Given the description of an element on the screen output the (x, y) to click on. 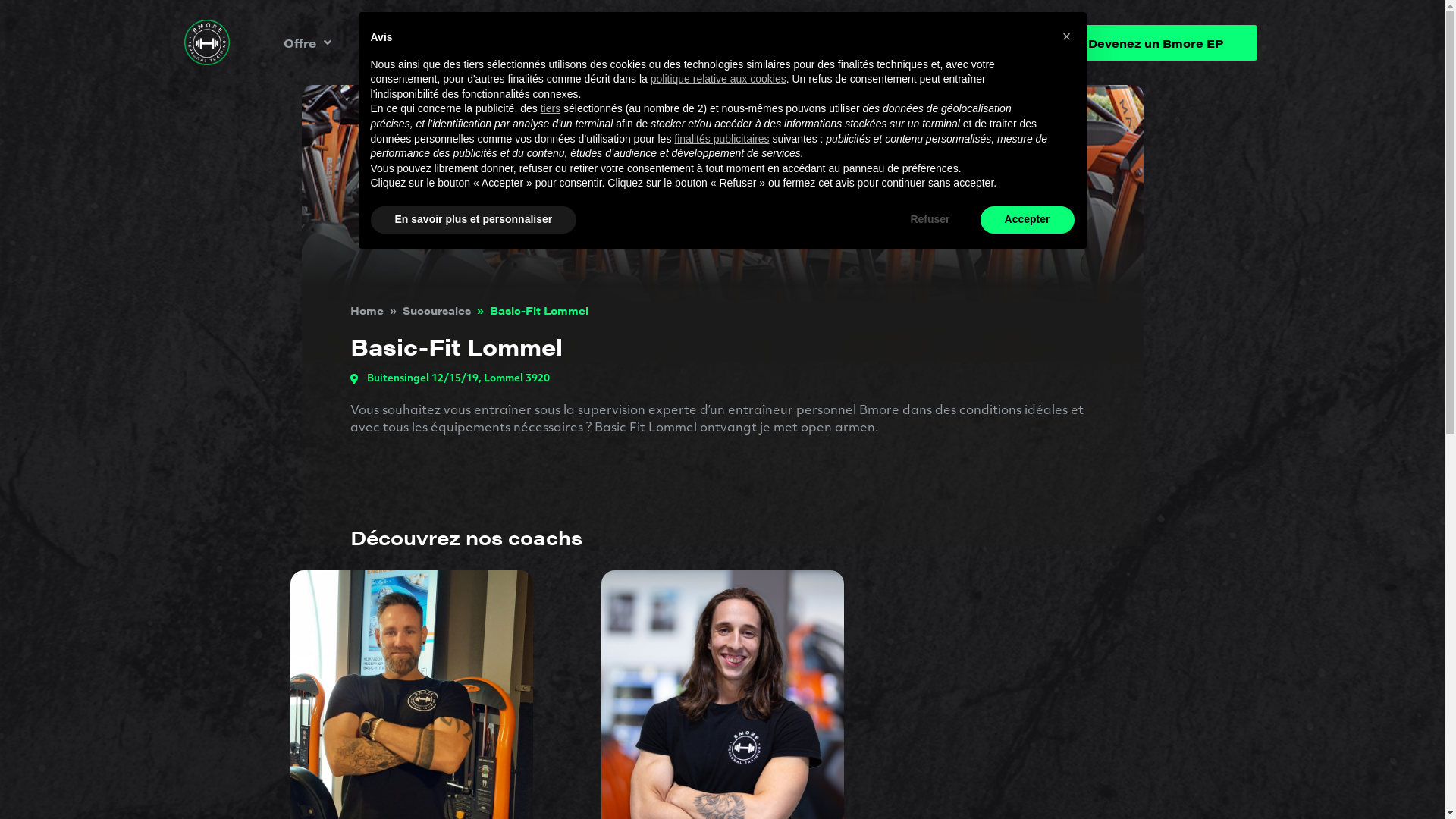
Succursales Element type: text (435, 309)
Refuser Element type: text (929, 219)
Webshop Element type: text (854, 42)
En savoir plus et personnaliser Element type: text (473, 219)
Accepter Element type: text (1027, 219)
Buitensingel 12/15/19, Lommel 3920 Element type: text (722, 378)
Formation Element type: text (760, 42)
Basic-Fit Lommel Element type: text (538, 309)
Devenez un Bmore EP Element type: text (1155, 41)
FR Element type: text (931, 42)
tiers Element type: text (550, 108)
politique relative aux cookies Element type: text (718, 78)
Offre Element type: text (307, 42)
